Given the description of an element on the screen output the (x, y) to click on. 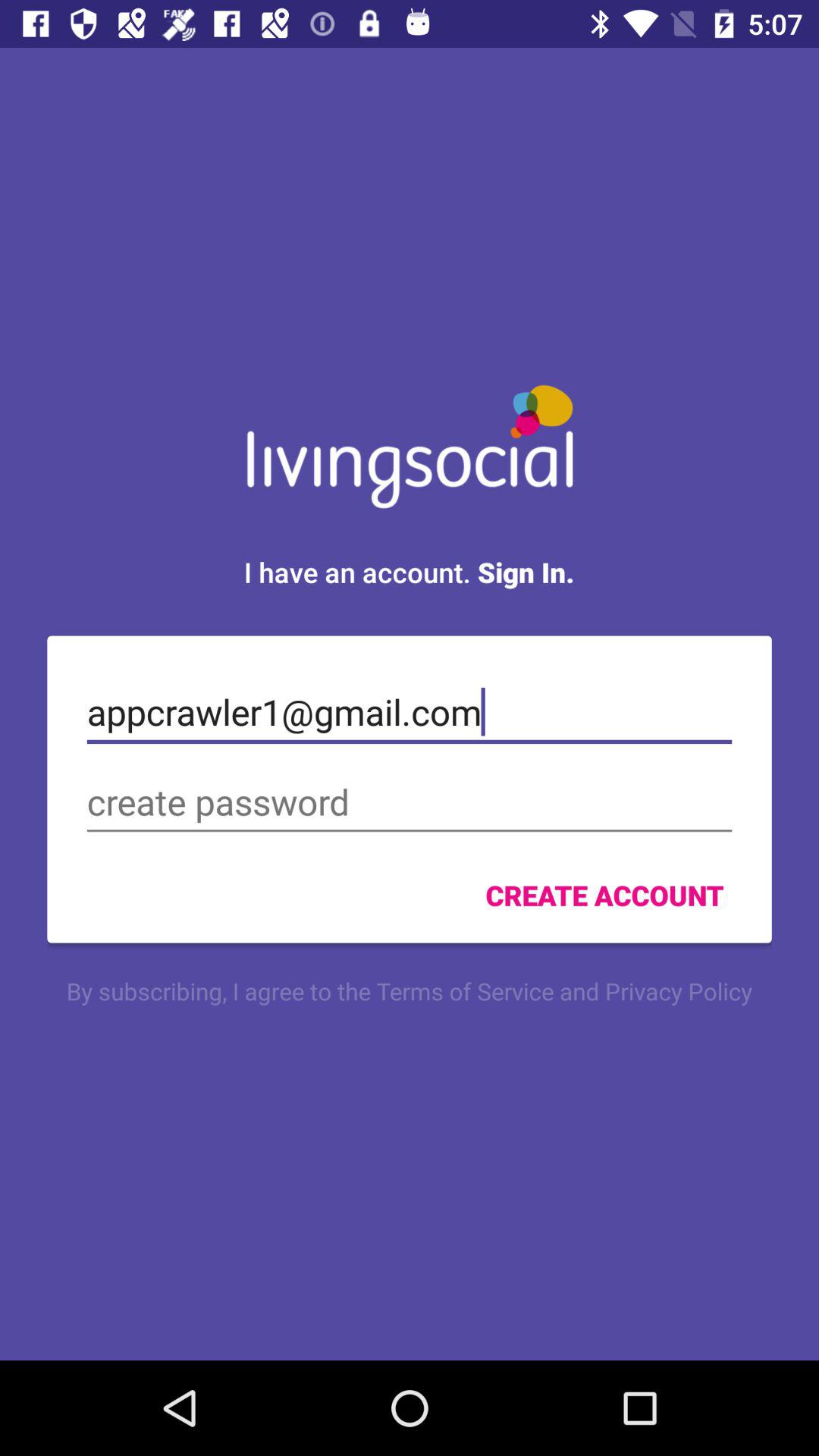
press the i have an item (409, 571)
